Given the description of an element on the screen output the (x, y) to click on. 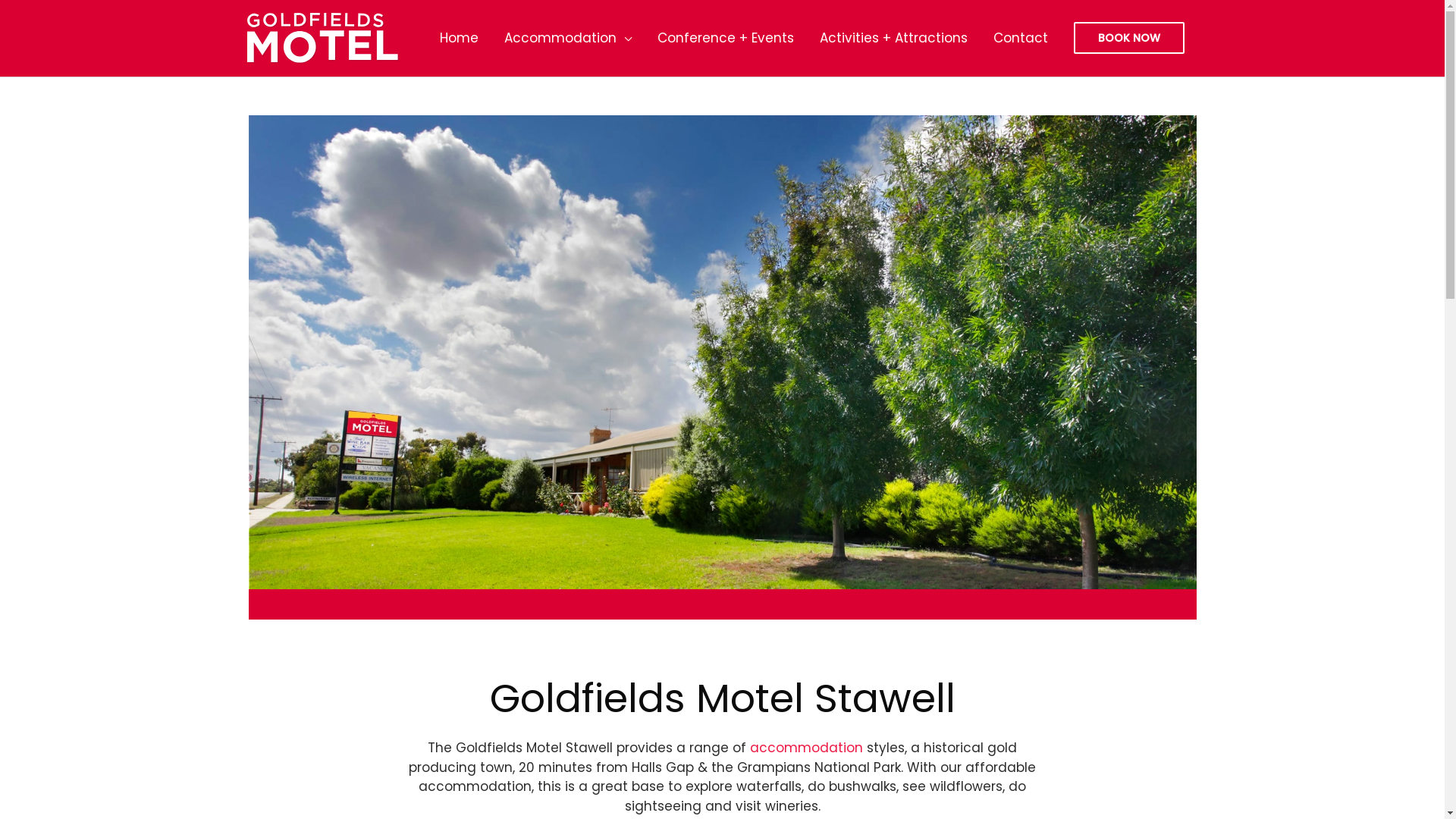
Activities + Attractions Element type: text (893, 37)
Home Element type: text (458, 37)
BOOK NOW Element type: text (1128, 37)
Conference + Events Element type: text (725, 37)
Accommodation Element type: text (567, 37)
accommodation Element type: text (805, 747)
Contact Element type: text (1020, 37)
